Given the description of an element on the screen output the (x, y) to click on. 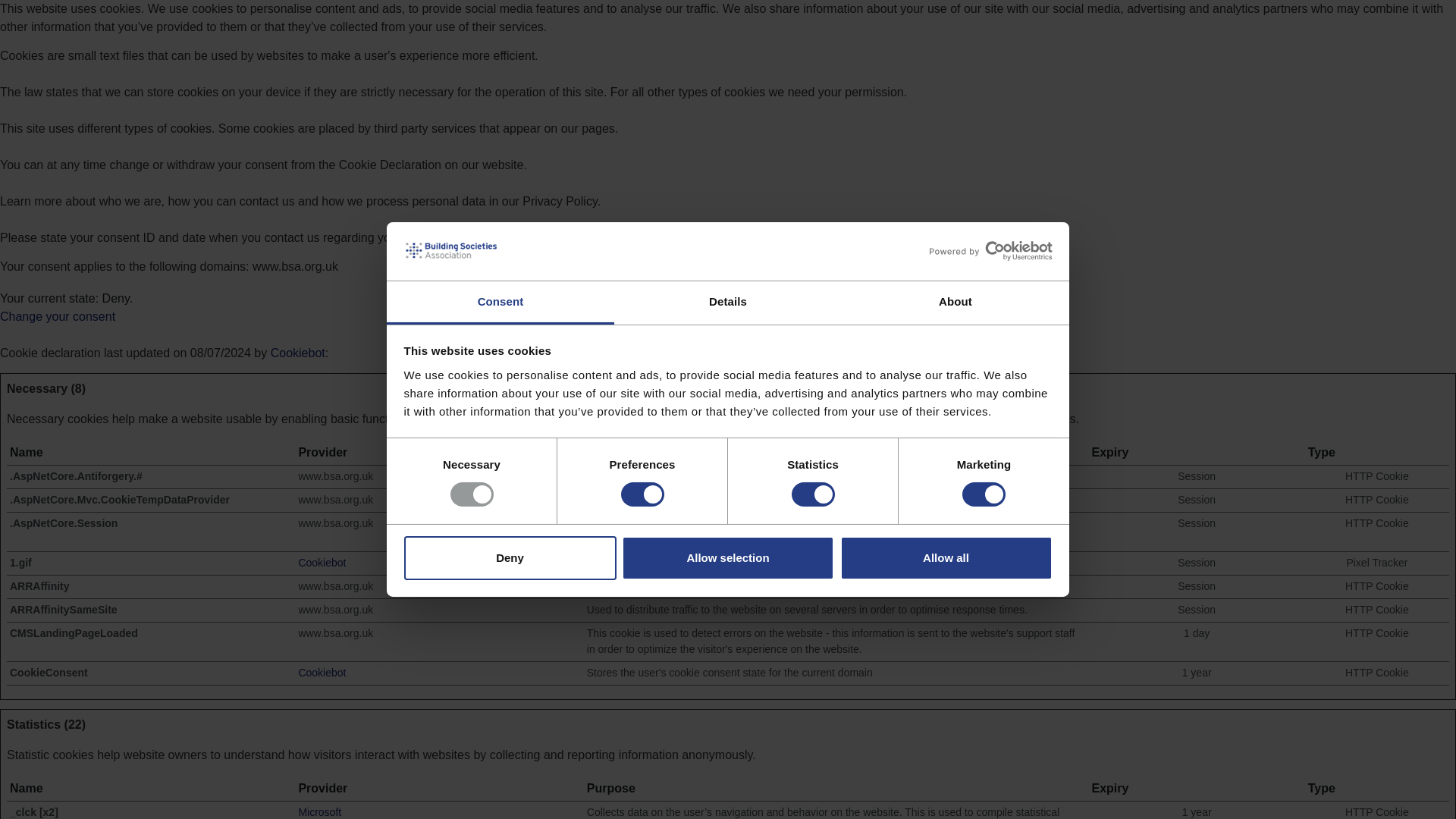
Cookiebot (322, 672)
Microsoft (319, 811)
Cookiebot (322, 562)
About (954, 302)
Microsoft's privacy policy (319, 811)
Cookiebot's privacy policy (322, 672)
Change your consent (57, 316)
Cookiebot's privacy policy (322, 562)
Details (727, 302)
Cookiebot (297, 352)
Consent (500, 302)
Cookiebot (297, 352)
